Given the description of an element on the screen output the (x, y) to click on. 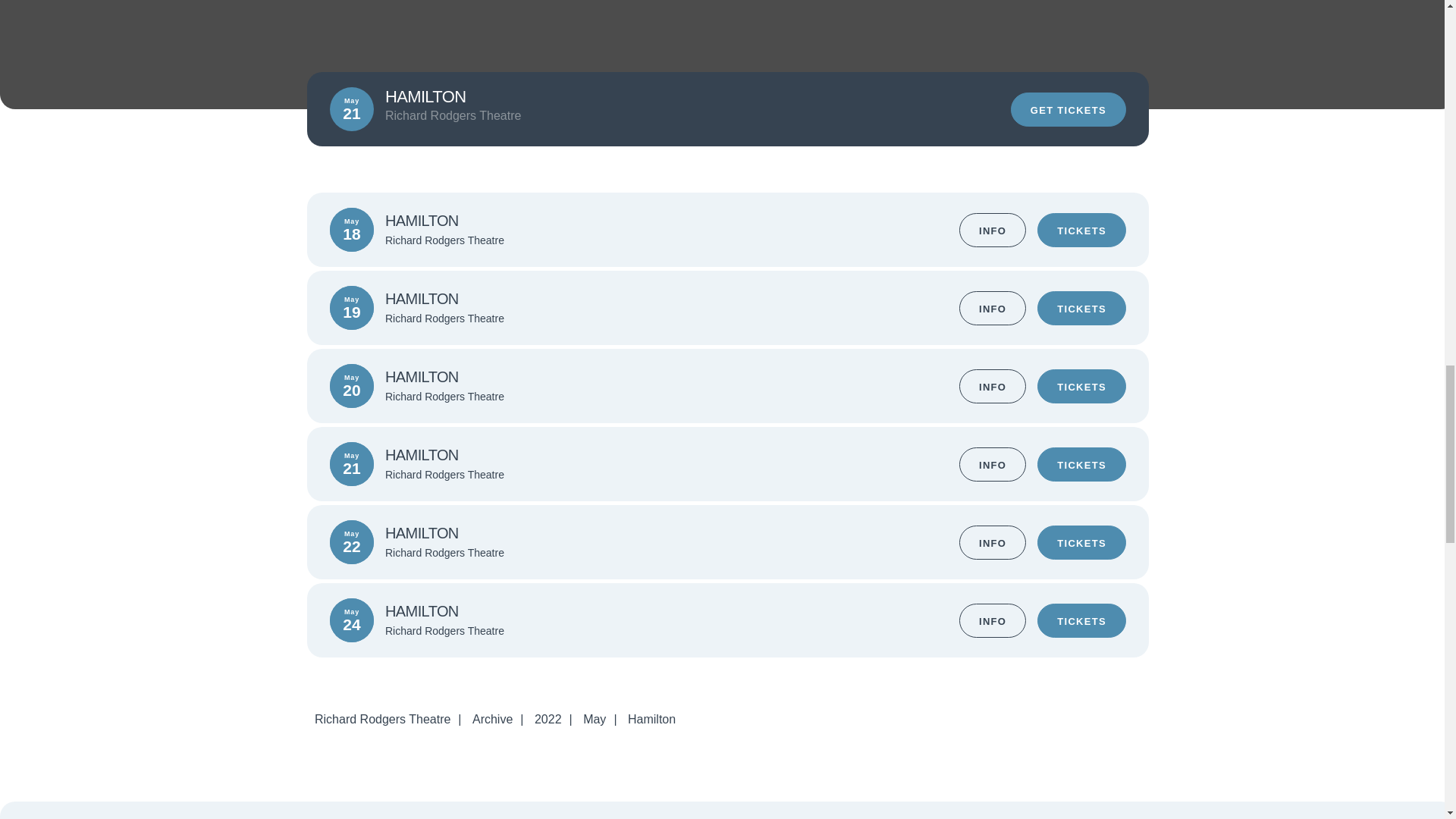
Richard Rodgers Theatre (382, 718)
INFO (992, 620)
TICKETS (1080, 385)
Archive (491, 718)
TICKETS (1080, 308)
INFO (992, 541)
May (593, 718)
INFO (992, 464)
INFO (992, 229)
INFO (992, 308)
